Given the description of an element on the screen output the (x, y) to click on. 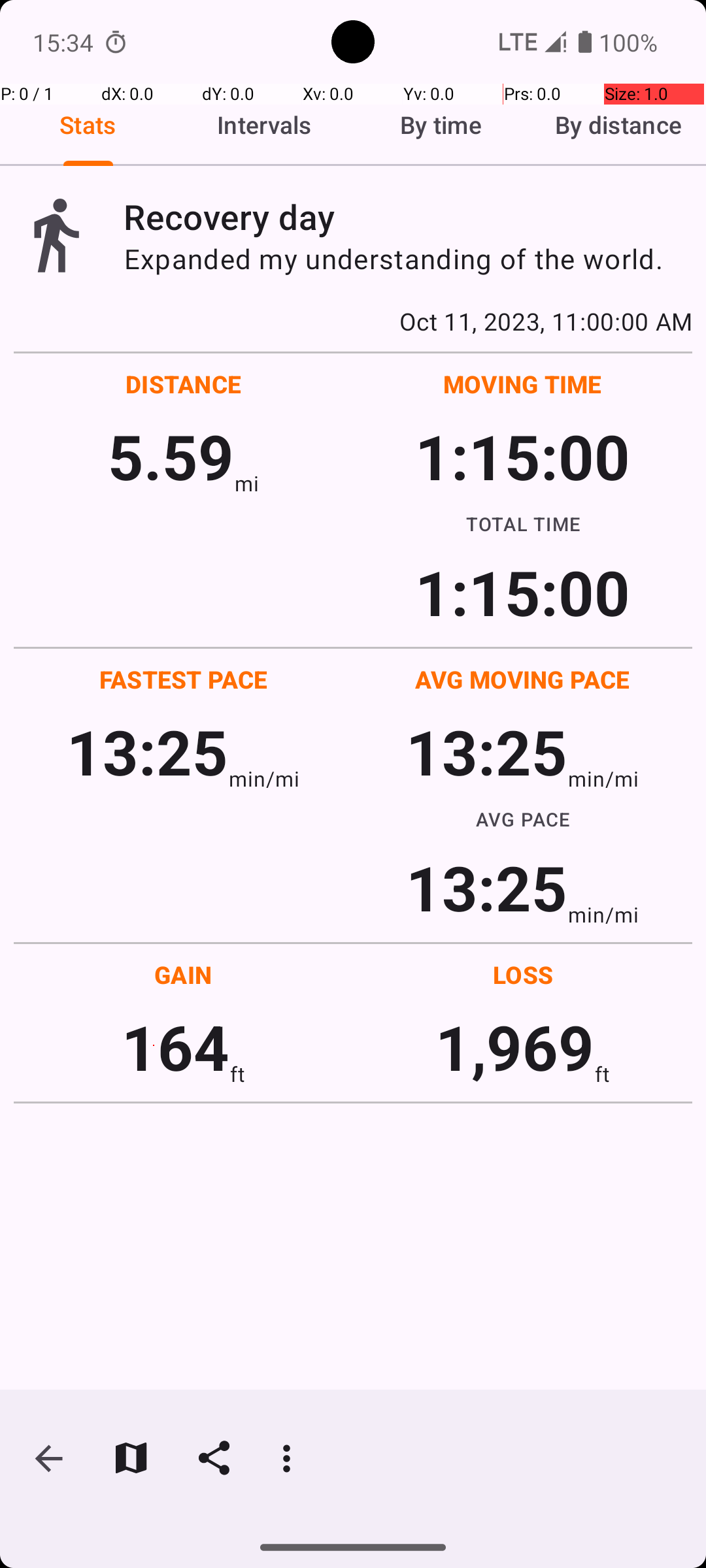
Recovery day Element type: android.widget.TextView (407, 216)
Expanded my understanding of the world. Element type: android.widget.TextView (407, 258)
Oct 11, 2023, 11:00:00 AM Element type: android.widget.TextView (352, 320)
5.59 Element type: android.widget.TextView (170, 455)
1:15:00 Element type: android.widget.TextView (522, 455)
13:25 Element type: android.widget.TextView (147, 750)
164 Element type: android.widget.TextView (175, 1045)
1,969 Element type: android.widget.TextView (514, 1045)
